Given the description of an element on the screen output the (x, y) to click on. 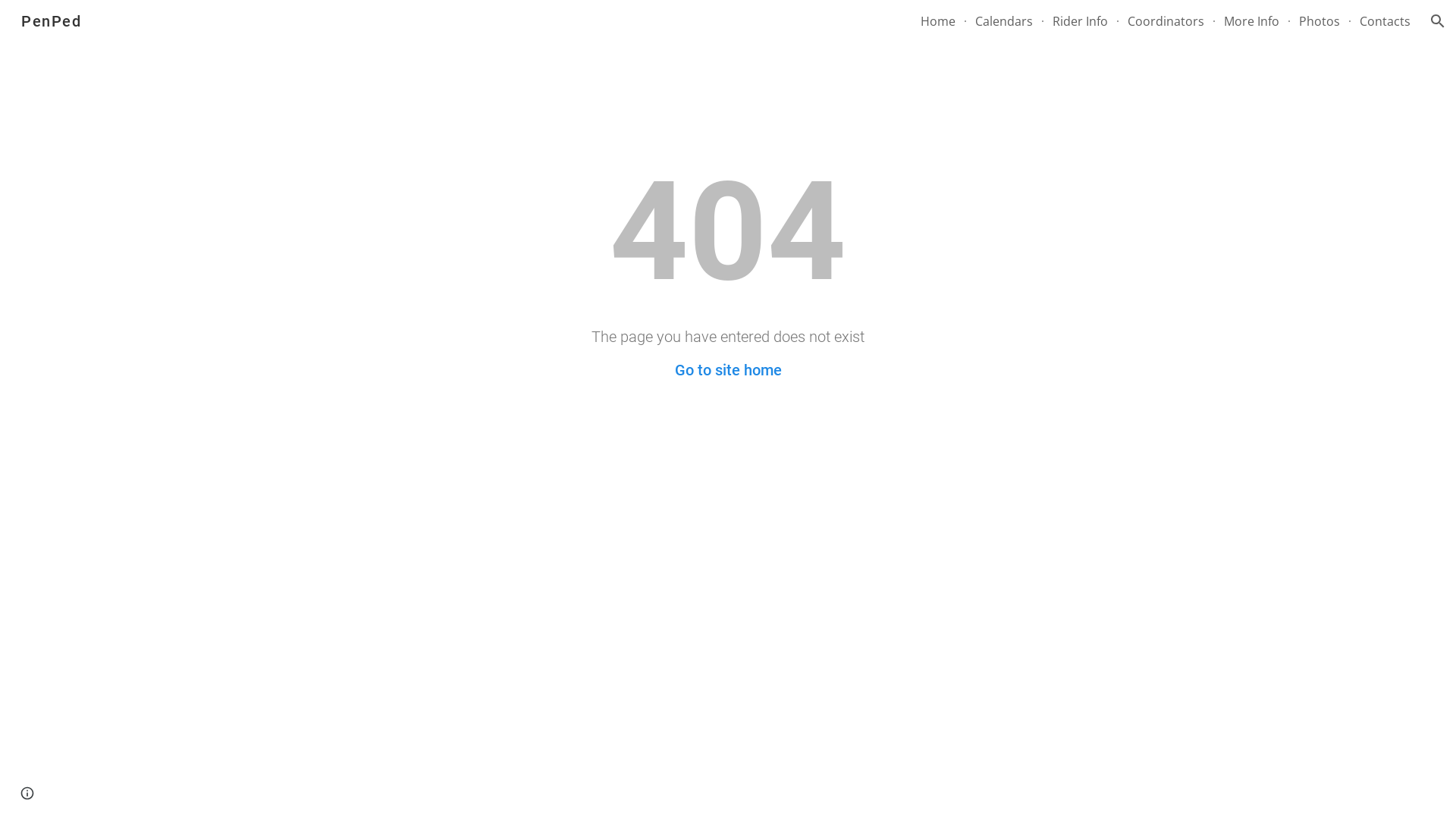
Photos Element type: text (1319, 20)
Go to site home Element type: text (727, 369)
Calendars Element type: text (1003, 20)
Coordinators Element type: text (1165, 20)
Contacts Element type: text (1384, 20)
More Info Element type: text (1251, 20)
PenPed Element type: text (51, 19)
Rider Info Element type: text (1079, 20)
Home Element type: text (937, 20)
